Given the description of an element on the screen output the (x, y) to click on. 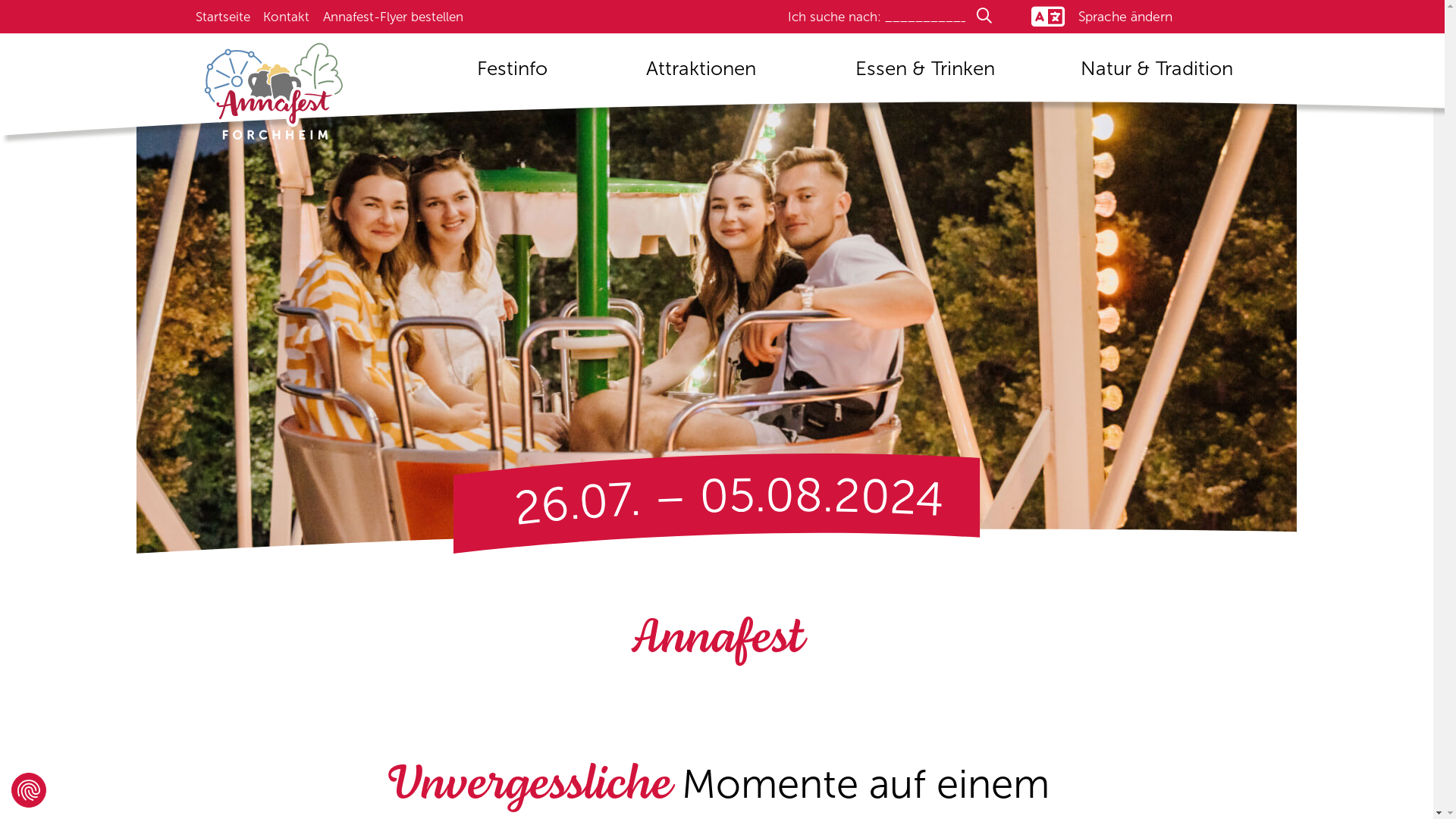
Essen & Trinken Element type: text (924, 74)
Startseite Element type: text (222, 16)
Festinfo Element type: text (511, 74)
Annafest-Flyer bestellen Element type: text (393, 16)
Natur & Tradition Element type: text (1155, 74)
Suchen Element type: hover (881, 16)
Kontakt Element type: text (286, 16)
Datenschutzeinstellungen Element type: hover (28, 789)
Attraktionen Element type: text (701, 74)
